Given the description of an element on the screen output the (x, y) to click on. 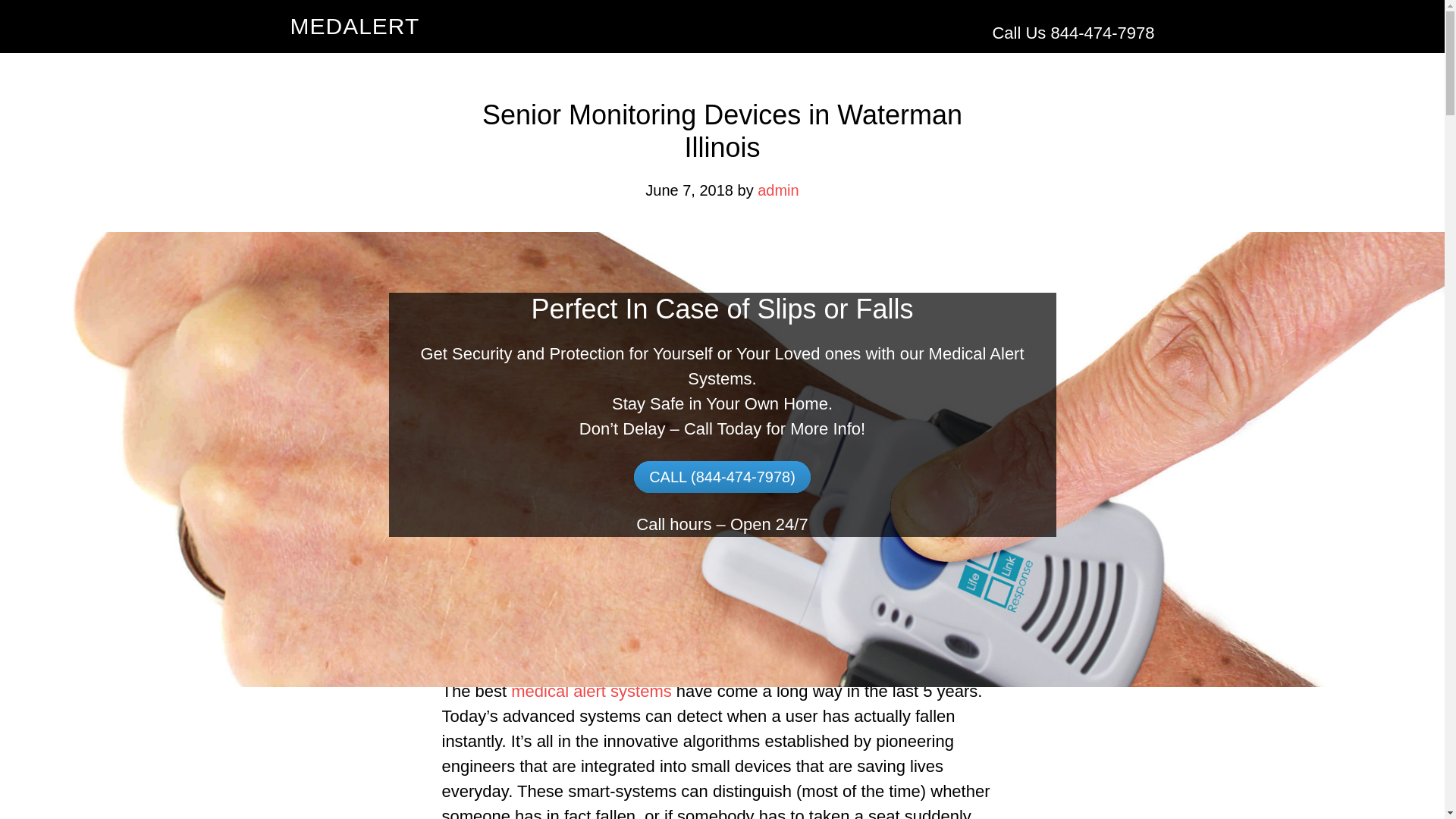
medical alert systems (591, 691)
admin (777, 190)
MEDALERT (354, 25)
Call Us 844-474-7978 (1072, 32)
